Given the description of an element on the screen output the (x, y) to click on. 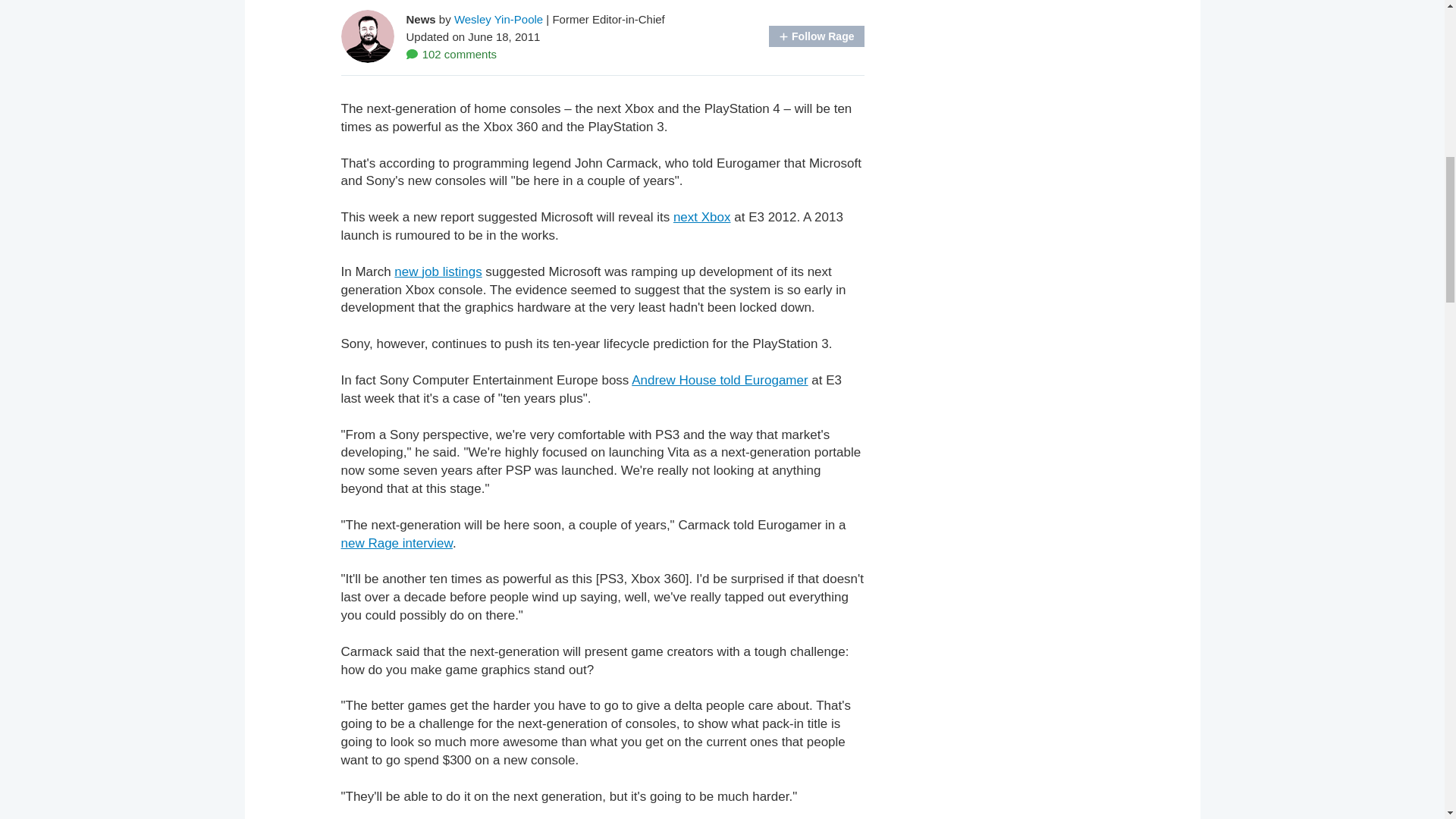
Andrew House told Eurogamer (719, 380)
new Rage interview (396, 543)
102 comments (451, 52)
new job listings (437, 271)
Wesley Yin-Poole (498, 18)
next Xbox (701, 216)
Follow Rage (815, 35)
